Given the description of an element on the screen output the (x, y) to click on. 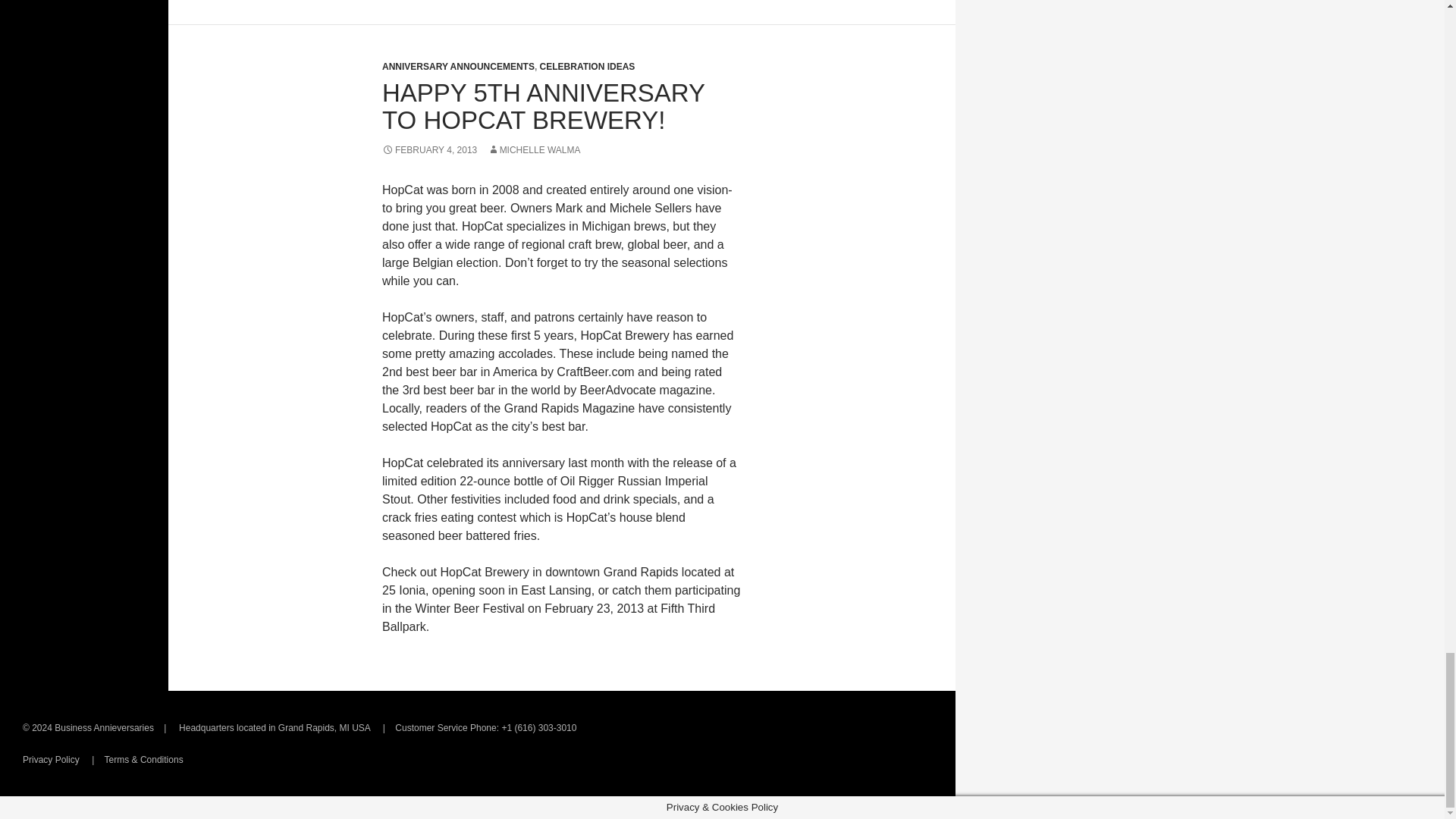
FEBRUARY 4, 2013 (429, 149)
HAPPY 5TH ANNIVERSARY TO HOPCAT BREWERY! (542, 106)
CELEBRATION IDEAS (587, 66)
MICHELLE WALMA (533, 149)
ANNIVERSARY ANNOUNCEMENTS (457, 66)
